Given the description of an element on the screen output the (x, y) to click on. 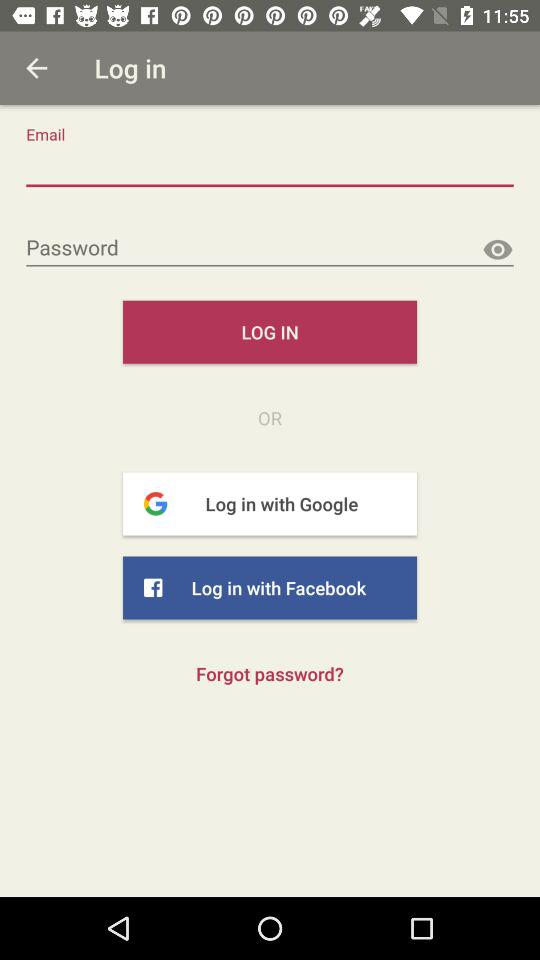
go back (36, 68)
